Given the description of an element on the screen output the (x, y) to click on. 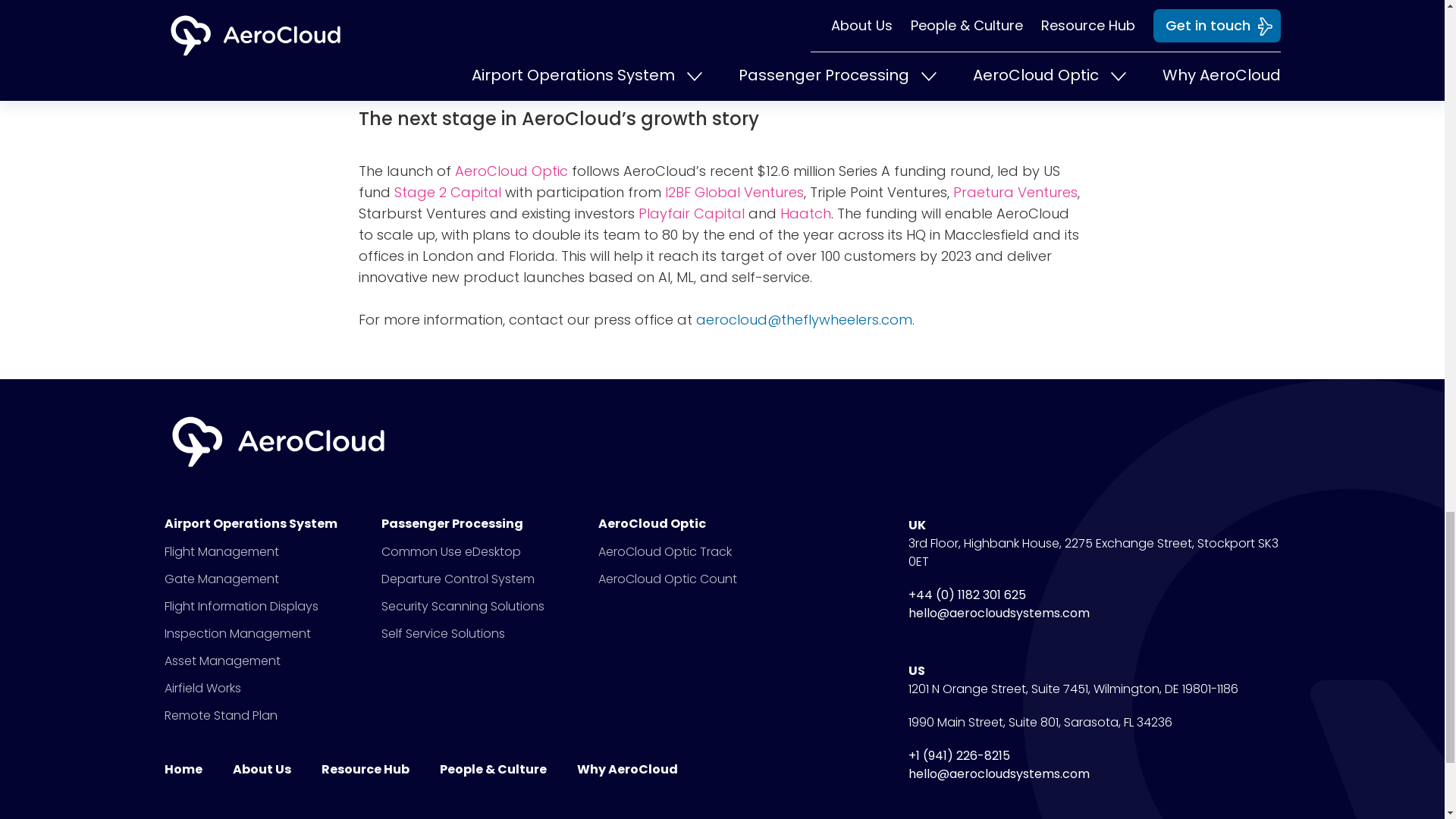
Praetura Ventures (1014, 191)
Stage 2 Capital (447, 191)
Starburst Ventures (421, 212)
I2BF Global Ventures (733, 191)
Playfair Capital (691, 212)
AeroCloud Optic (510, 170)
Triple Point Ventures (878, 191)
Airport Operations System (256, 523)
Flight Management (220, 551)
Haatch (803, 212)
